Given the description of an element on the screen output the (x, y) to click on. 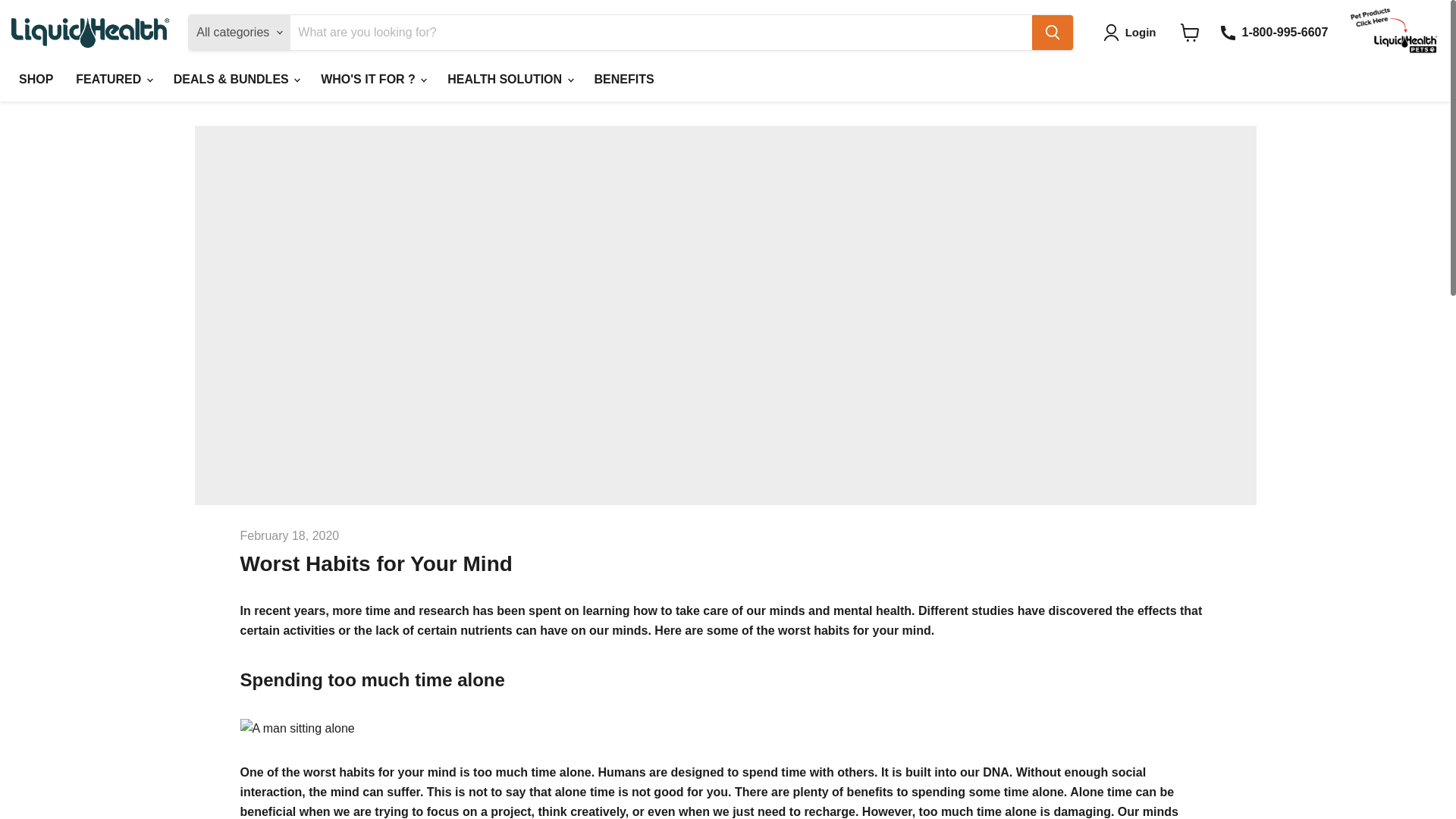
View cart (1190, 32)
SHOP (35, 79)
Login (1132, 32)
1-800-995-6607 (1273, 32)
